Given the description of an element on the screen output the (x, y) to click on. 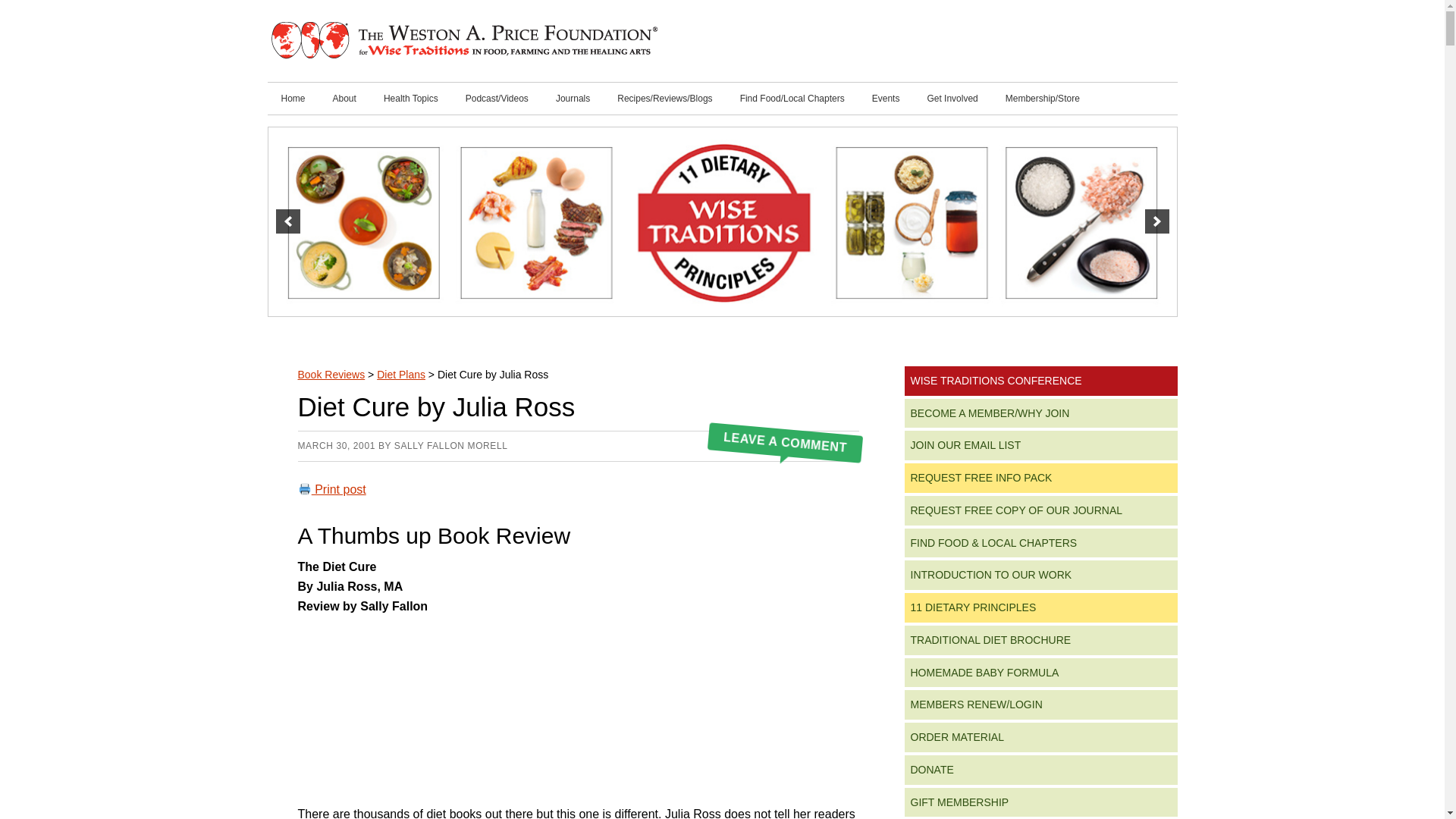
Home (292, 98)
About (343, 98)
Go to Book Reviews. (331, 374)
The Weston A. Price Foundation (462, 40)
Health Topics (410, 98)
The Weston A. Price Foundation (462, 40)
Journals (572, 98)
Go to the Diet Plans Book Review Category archives. (401, 374)
